Given the description of an element on the screen output the (x, y) to click on. 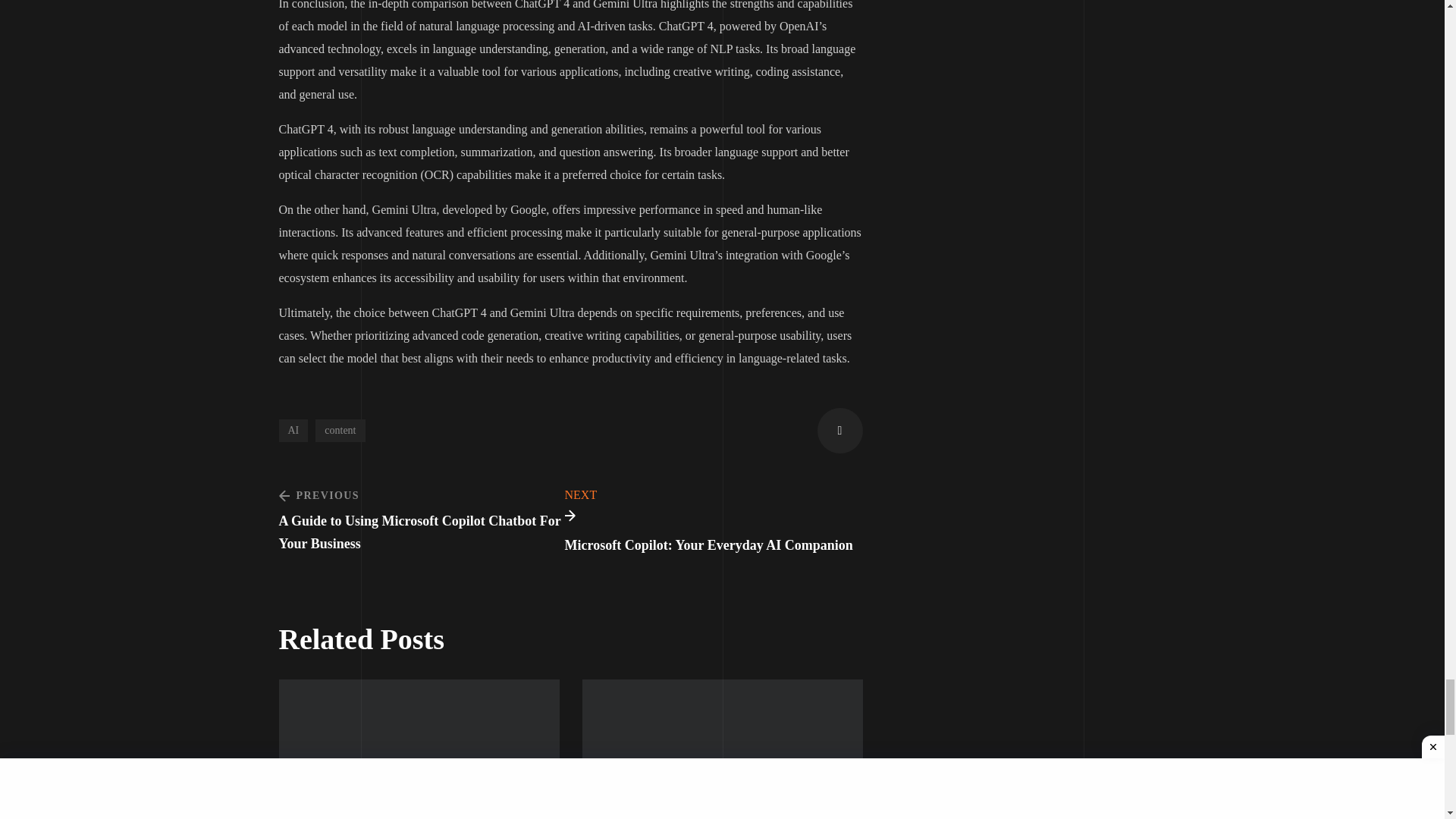
A Guide to Using Microsoft Copilot Chatbot For Your Business (421, 519)
Microsoft Copilot: Your Everyday AI Companion (571, 522)
